Given the description of an element on the screen output the (x, y) to click on. 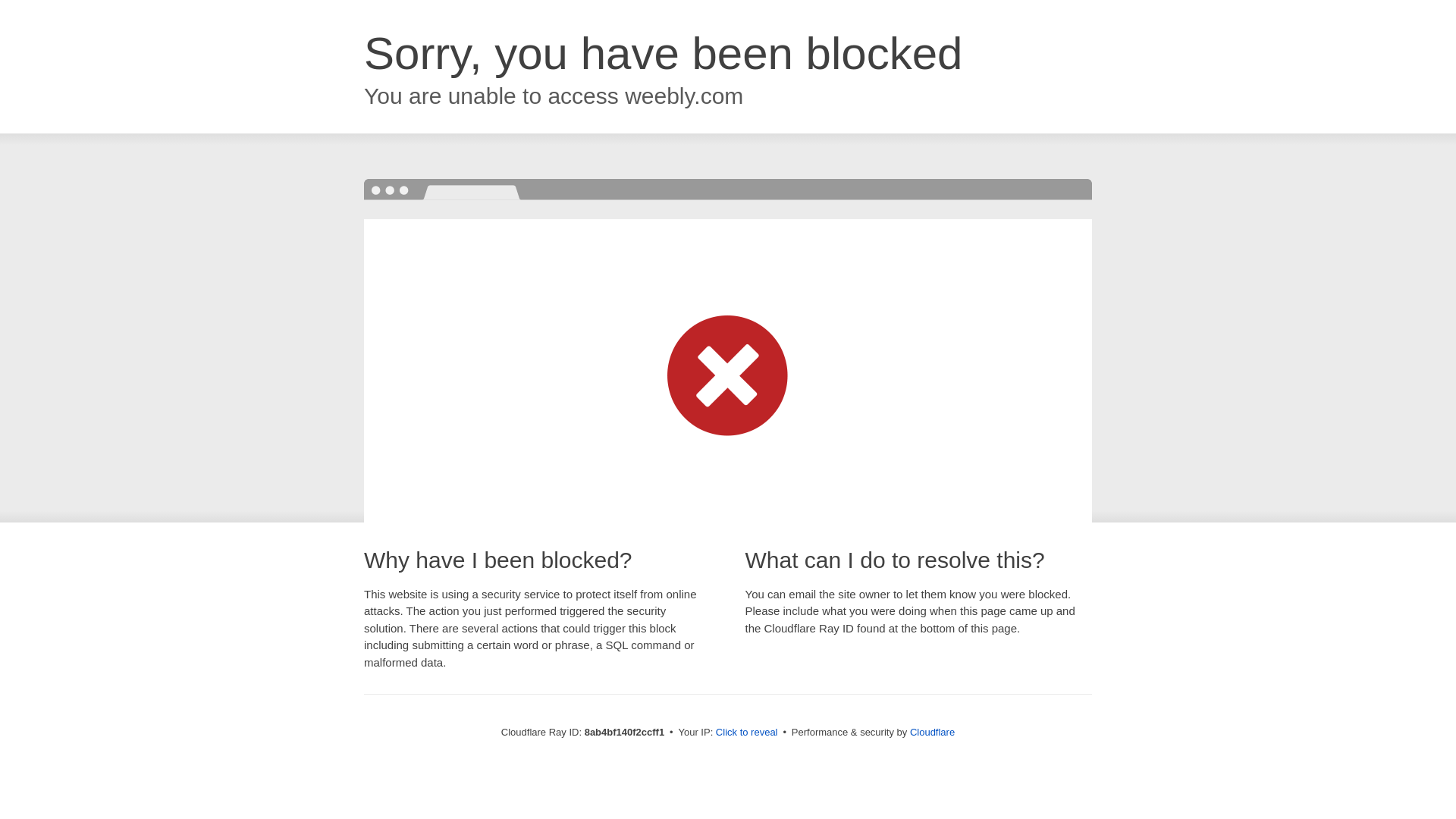
Click to reveal (746, 732)
Cloudflare (932, 731)
